Given the description of an element on the screen output the (x, y) to click on. 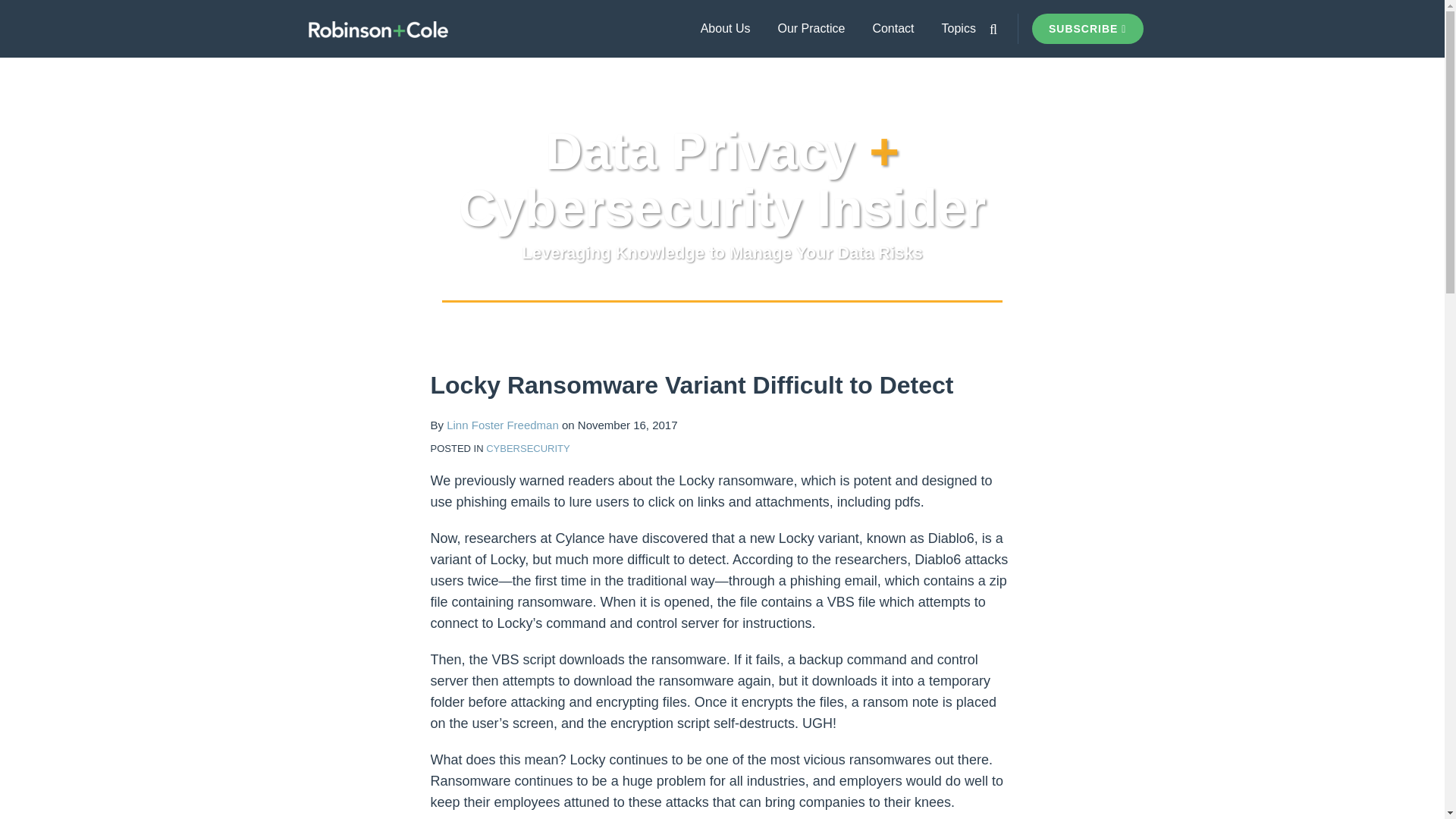
SUBSCRIBE (1087, 28)
Linn Foster Freedman (502, 424)
About Us (725, 28)
Contact (893, 28)
CYBERSECURITY (528, 448)
Our Practice (810, 28)
Topics (958, 28)
